Given the description of an element on the screen output the (x, y) to click on. 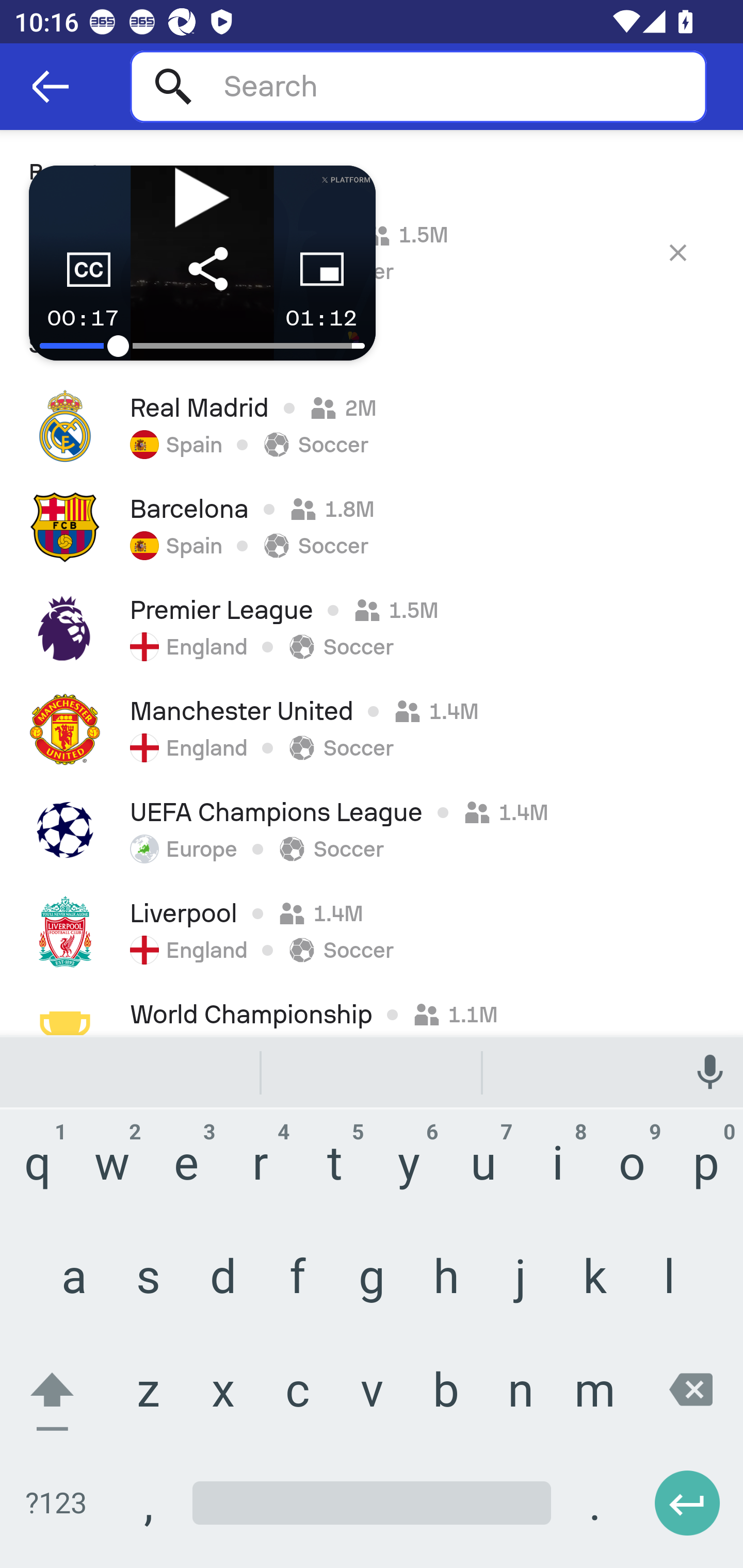
Navigate up (50, 86)
Search (418, 86)
Real Madrid 2M Spain Soccer (371, 425)
Barcelona 1.8M Spain Soccer (371, 526)
Premier League 1.5M England Soccer (371, 627)
Manchester United 1.4M England Soccer (371, 728)
UEFA Champions League 1.4M Europe Soccer (371, 830)
Liverpool 1.4M England Soccer (371, 931)
World Championship 1.1M (371, 1007)
